Given the description of an element on the screen output the (x, y) to click on. 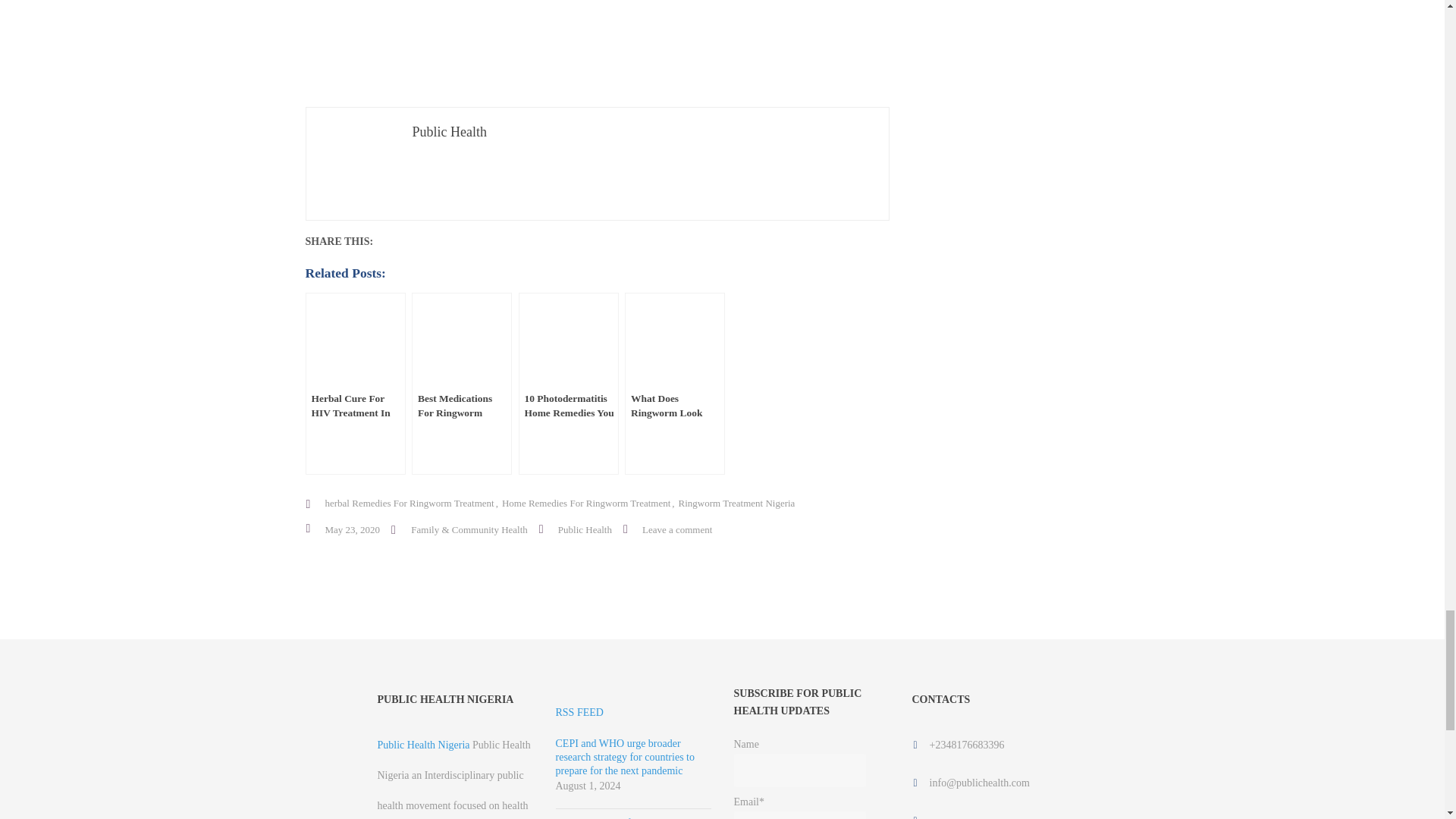
View all posts by Public Health (584, 529)
